Given the description of an element on the screen output the (x, y) to click on. 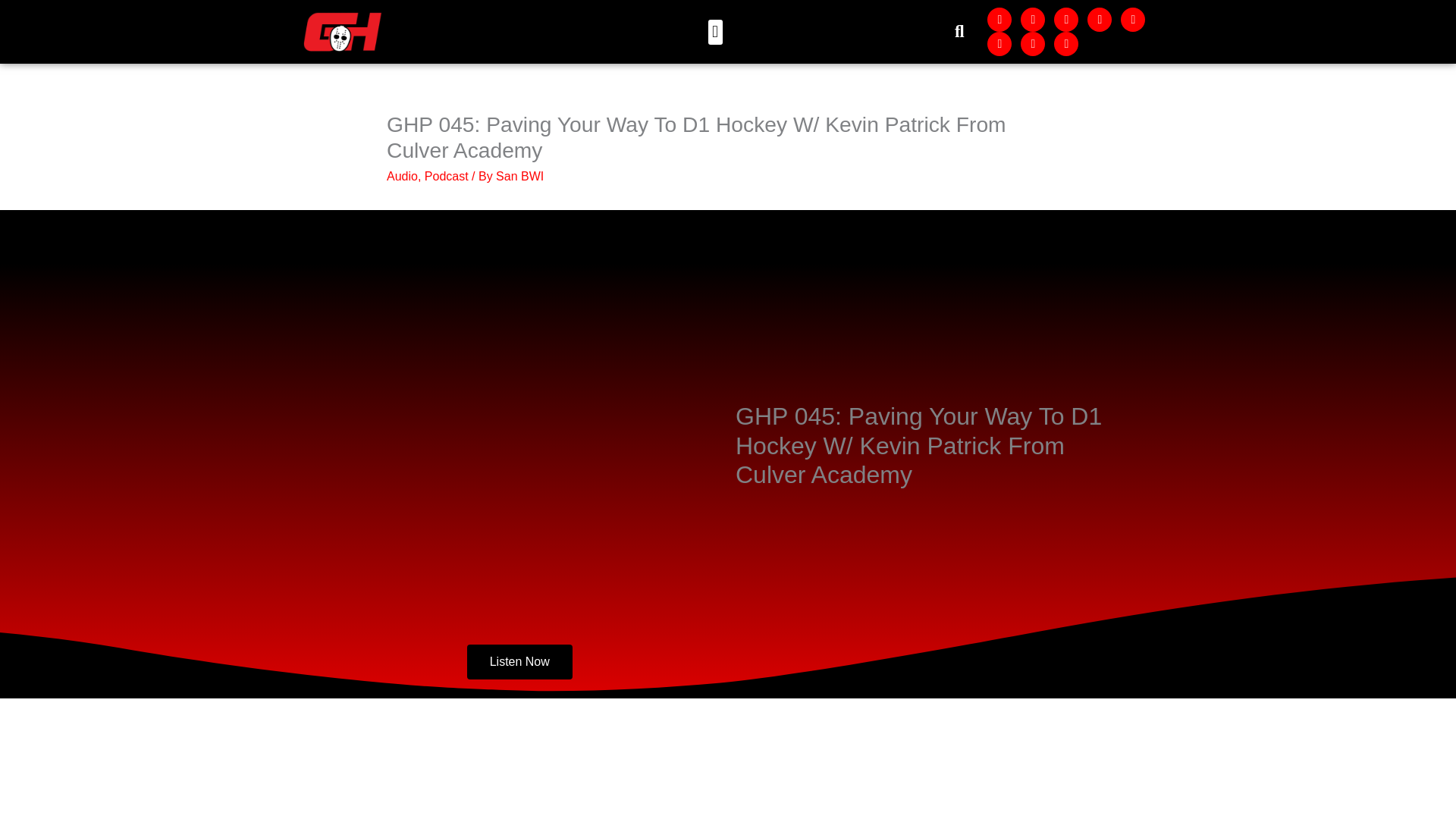
Podcast (446, 175)
San BWI (519, 175)
Listen Now (519, 661)
View all posts by San BWI (519, 175)
Audio (402, 175)
